Given the description of an element on the screen output the (x, y) to click on. 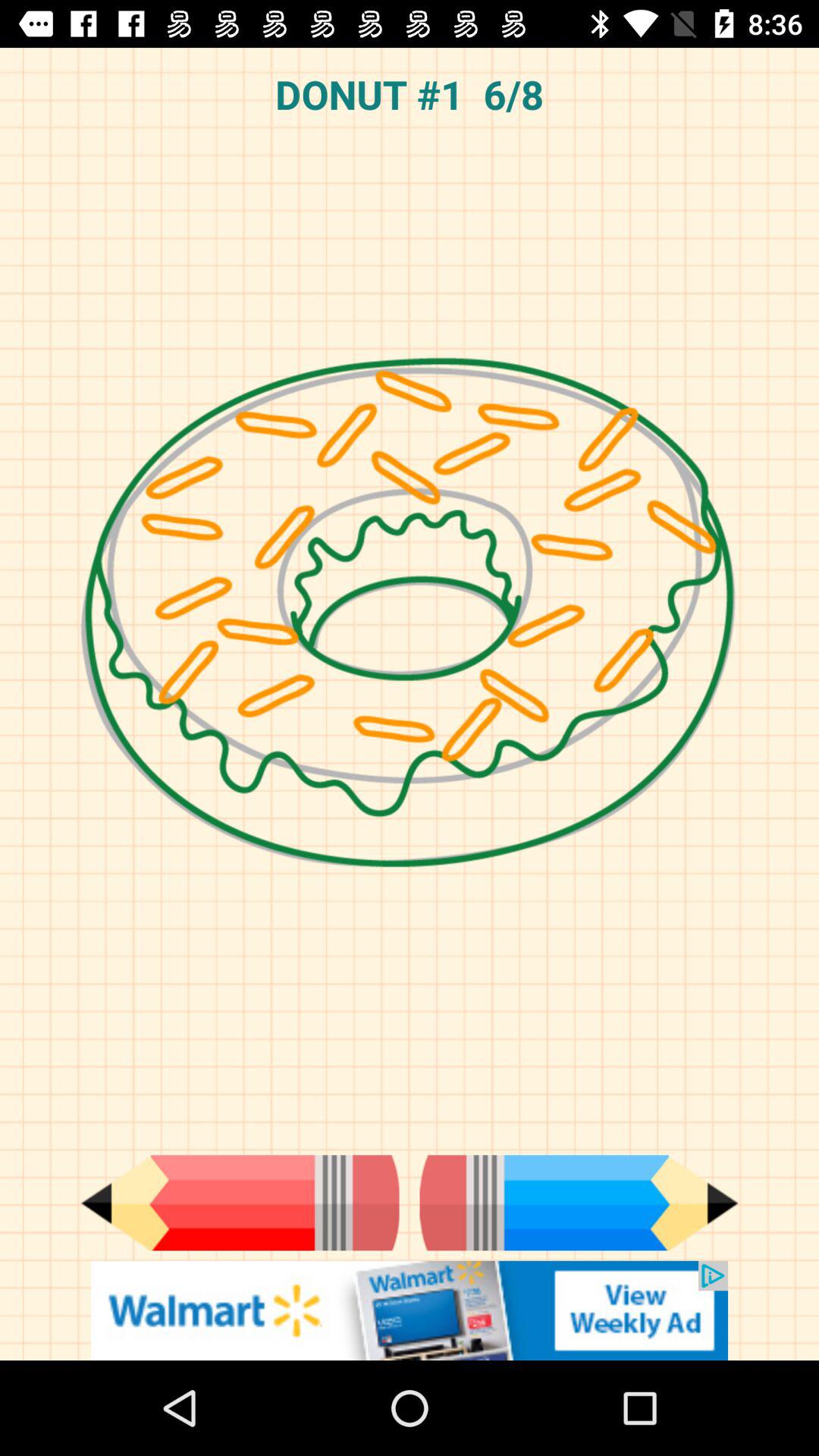
banner advertisements (409, 1310)
